Given the description of an element on the screen output the (x, y) to click on. 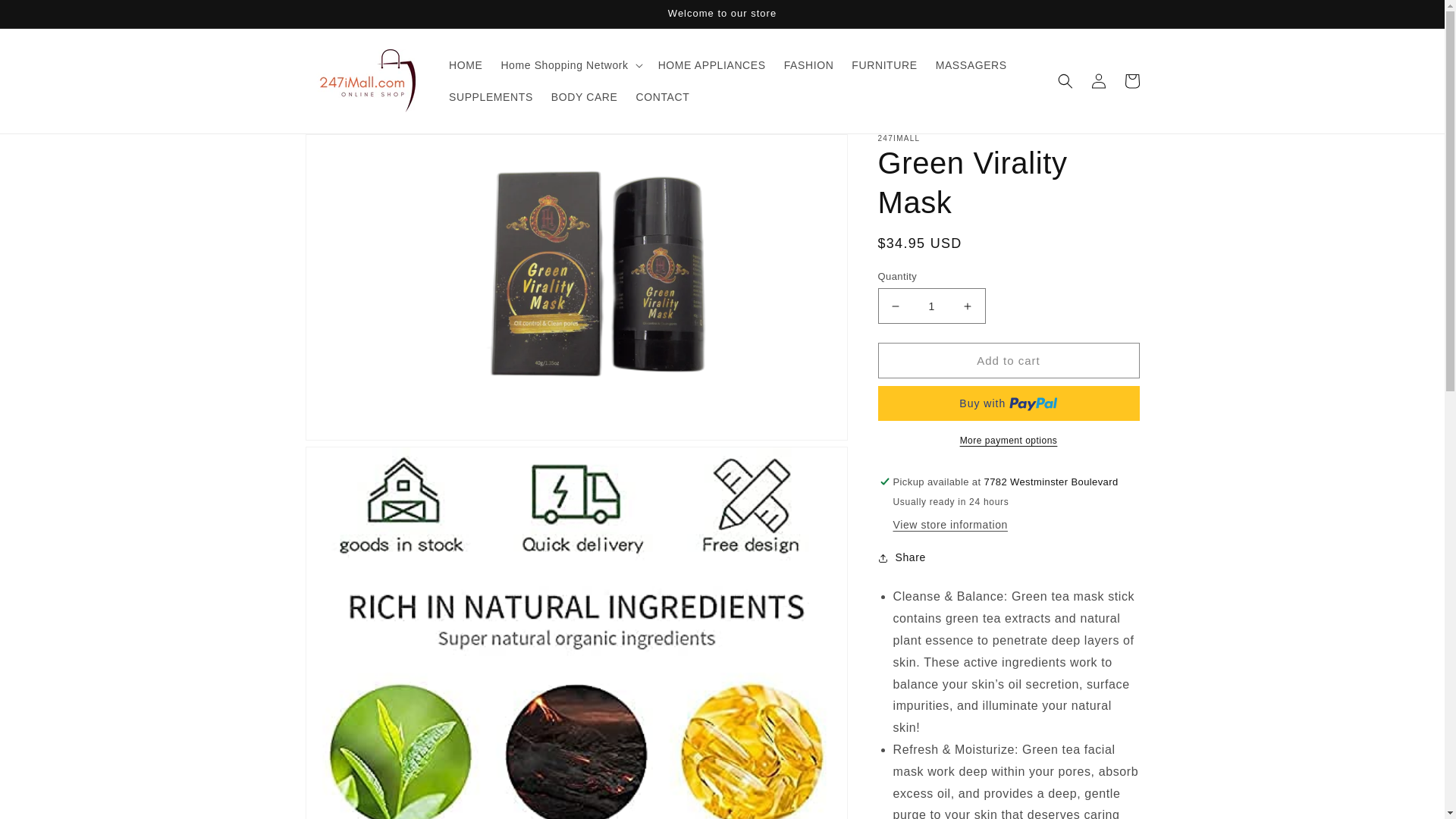
BODY CARE (584, 97)
MASSAGERS (971, 65)
1 (931, 305)
Skip to product information (350, 150)
FASHION (808, 65)
FURNITURE (884, 65)
HOME APPLIANCES (711, 65)
Log in (1098, 80)
Skip to content (45, 17)
SUPPLEMENTS (490, 97)
HOME (465, 65)
Cart (1131, 80)
CONTACT (662, 97)
